Given the description of an element on the screen output the (x, y) to click on. 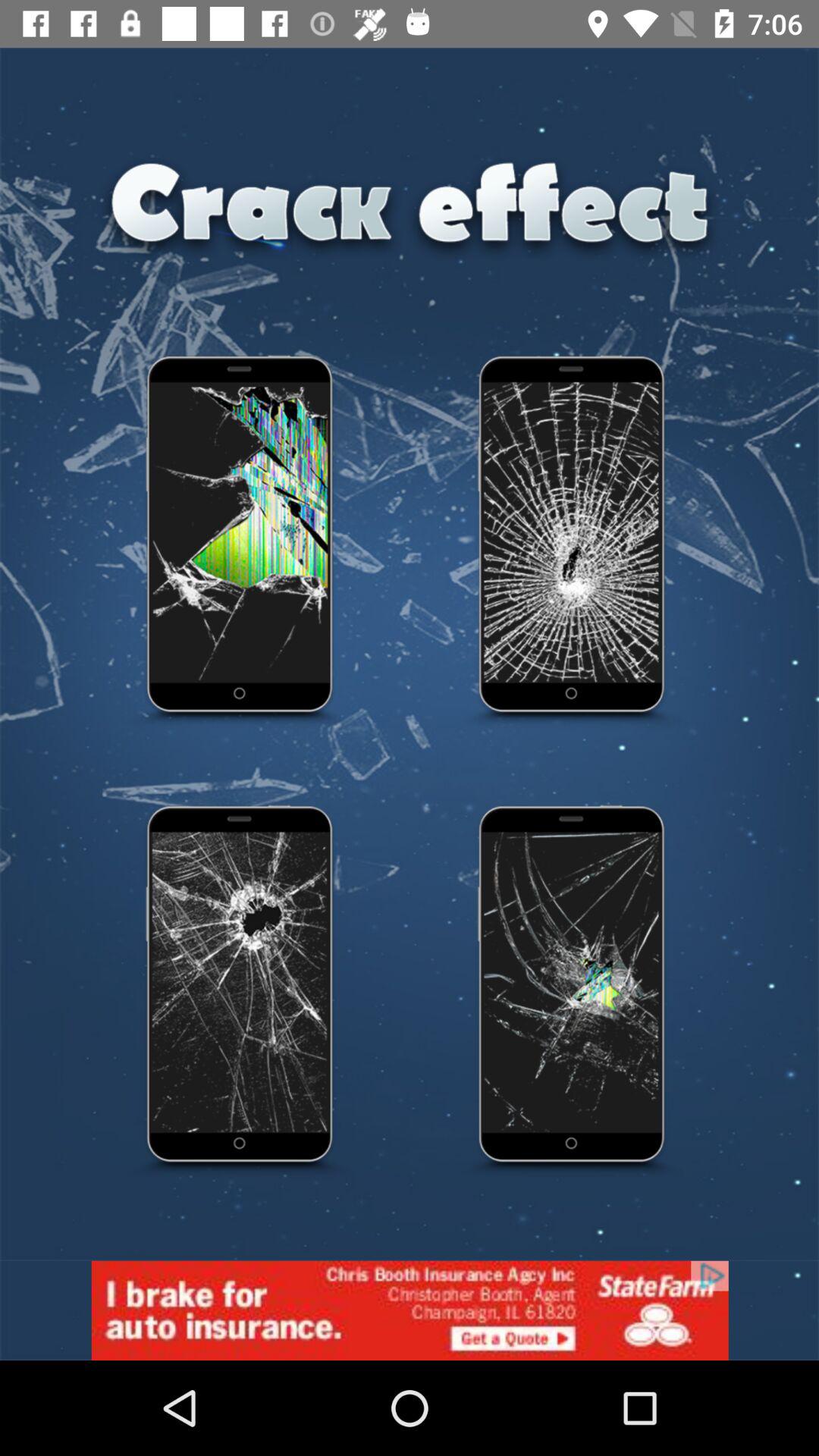
select app option for cracked screen (240, 542)
